Given the description of an element on the screen output the (x, y) to click on. 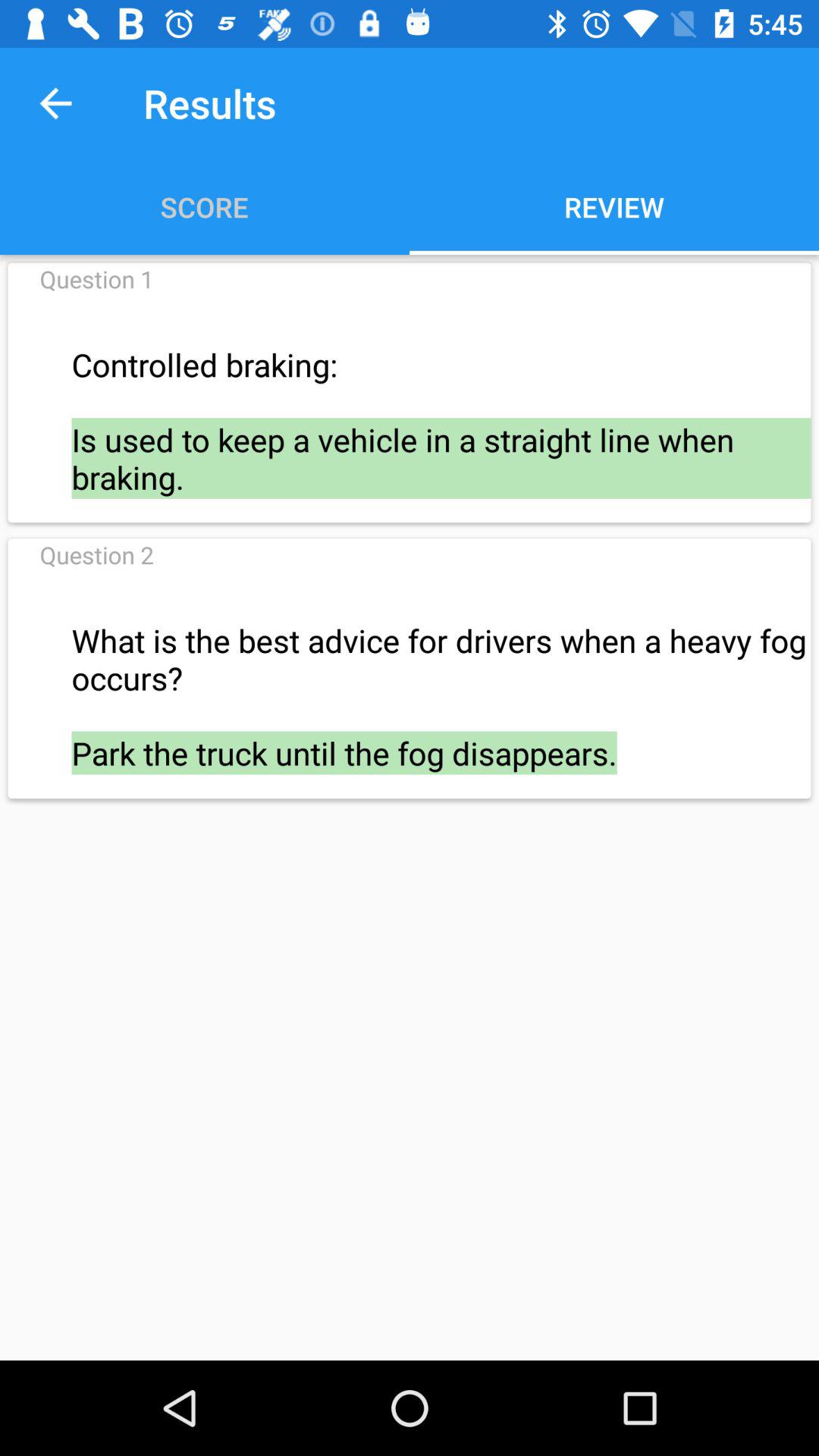
turn off the item to the left of the results (55, 103)
